Given the description of an element on the screen output the (x, y) to click on. 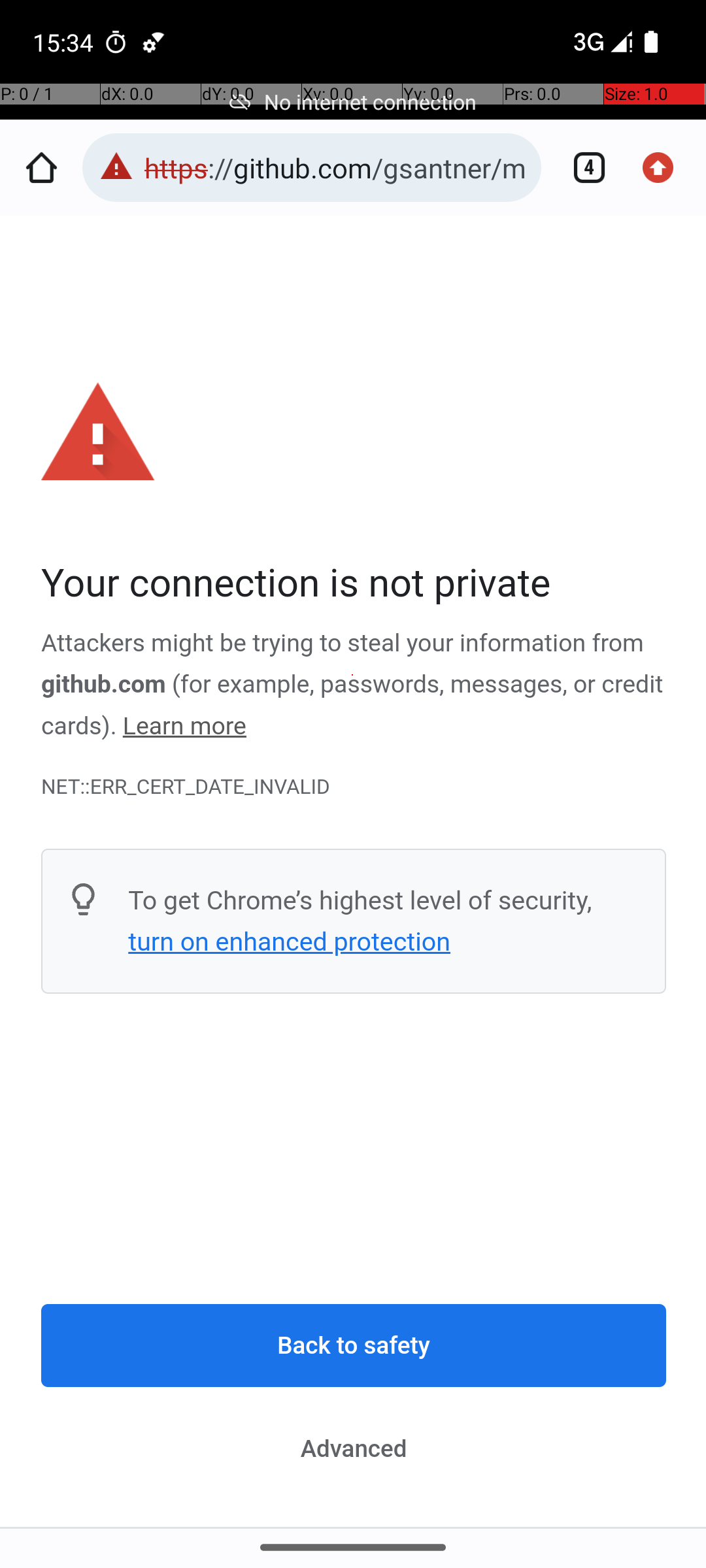
https://github.com/gsantner/markor/issues/new/choose Element type: android.widget.EditText (335, 167)
Update available. More options Element type: android.widget.ImageButton (664, 167)
